Given the description of an element on the screen output the (x, y) to click on. 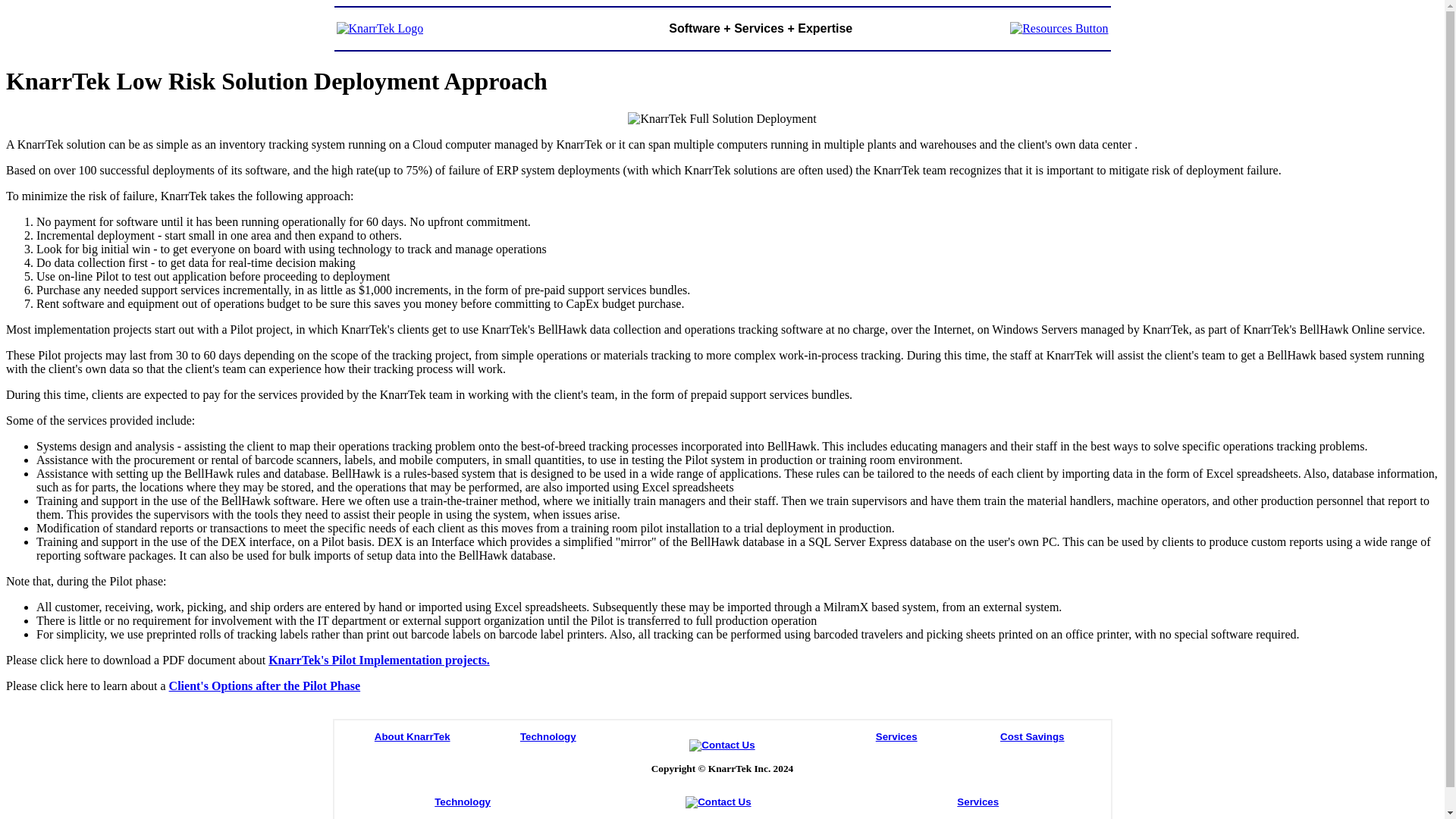
Client's Options after the Pilot Phase (264, 685)
Cost Savings (1032, 736)
About KnarrTek (411, 736)
Technology (461, 801)
Services (896, 736)
Services (977, 801)
Technology (547, 736)
KnarrTek's Pilot Implementation projects. (378, 659)
